Given the description of an element on the screen output the (x, y) to click on. 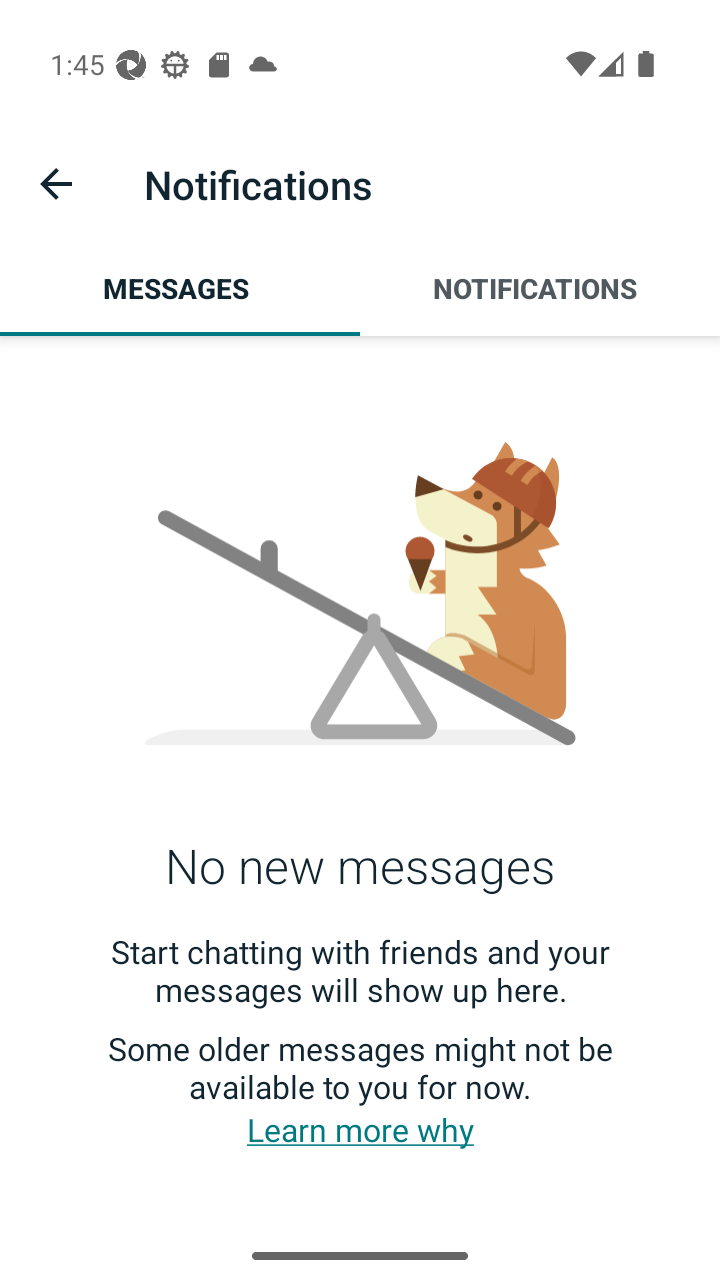
Notifications NOTIFICATIONS (540, 287)
